Given the description of an element on the screen output the (x, y) to click on. 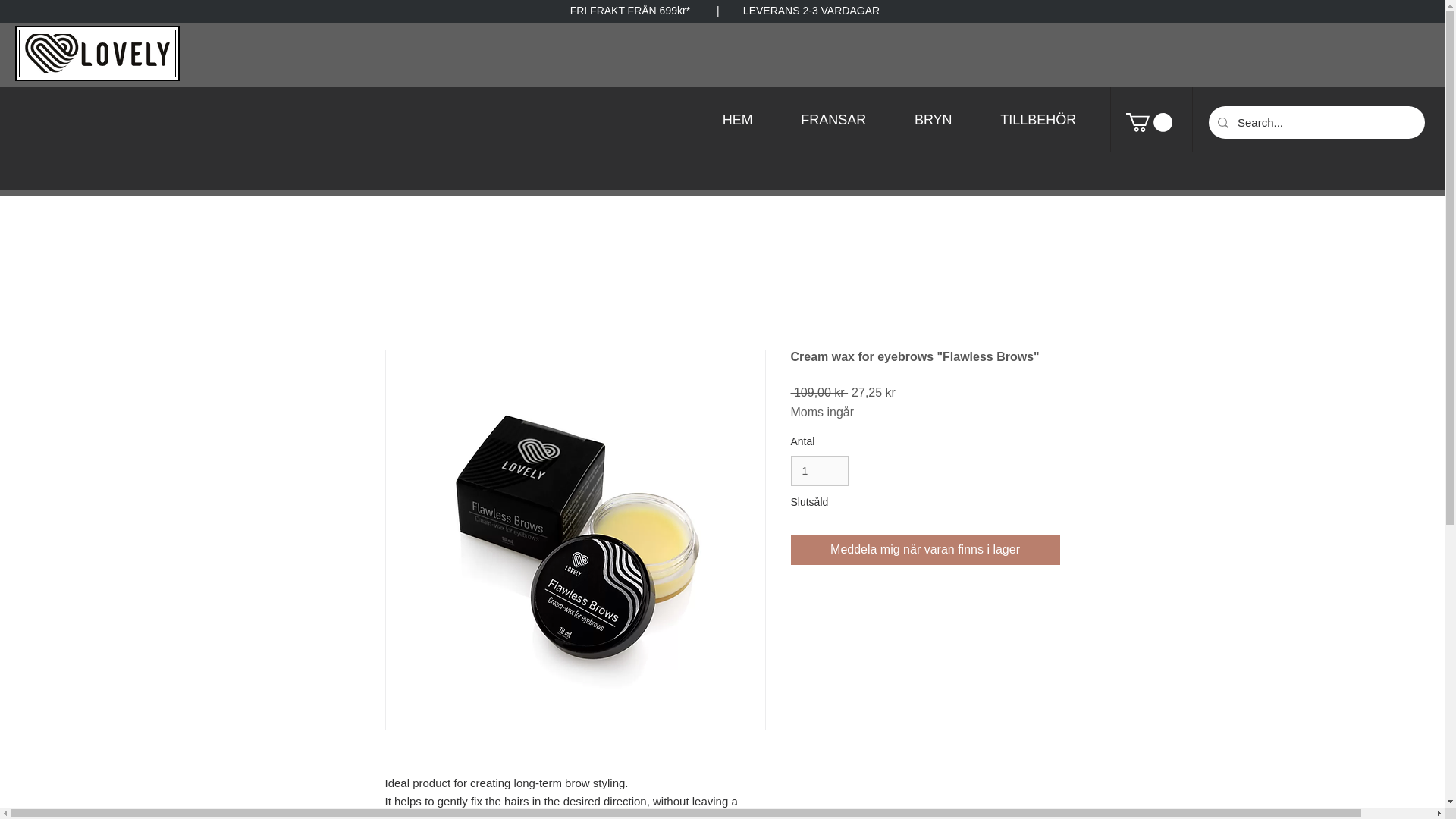
1 (818, 470)
FRANSAR (834, 119)
HEM (737, 119)
BRYN (932, 119)
